Given the description of an element on the screen output the (x, y) to click on. 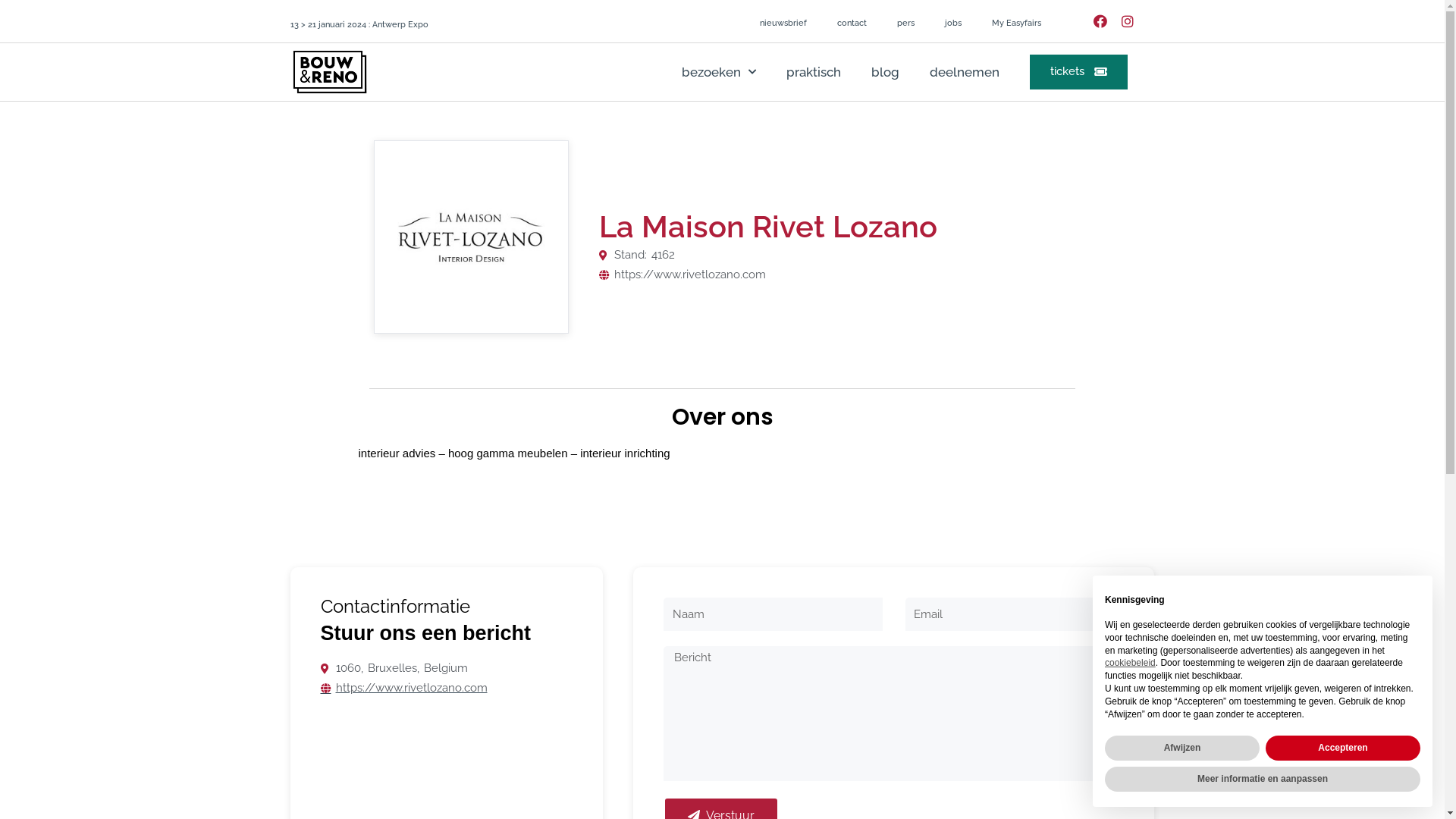
nieuwsbrief Element type: text (783, 23)
https://www.rivetlozano.com Element type: text (682, 275)
contact Element type: text (851, 23)
jobs Element type: text (952, 23)
https://www.rivetlozano.com Element type: text (403, 688)
Meer informatie en aanpassen Element type: text (1262, 778)
deelnemen Element type: text (964, 71)
pers Element type: text (905, 23)
bezoeken Element type: text (718, 71)
praktisch Element type: text (813, 71)
tickets Element type: text (1078, 71)
Accepteren Element type: text (1342, 747)
cookiebeleid Element type: text (1129, 662)
Afwijzen Element type: text (1181, 747)
My Easyfairs Element type: text (1016, 23)
blog Element type: text (885, 71)
